Given the description of an element on the screen output the (x, y) to click on. 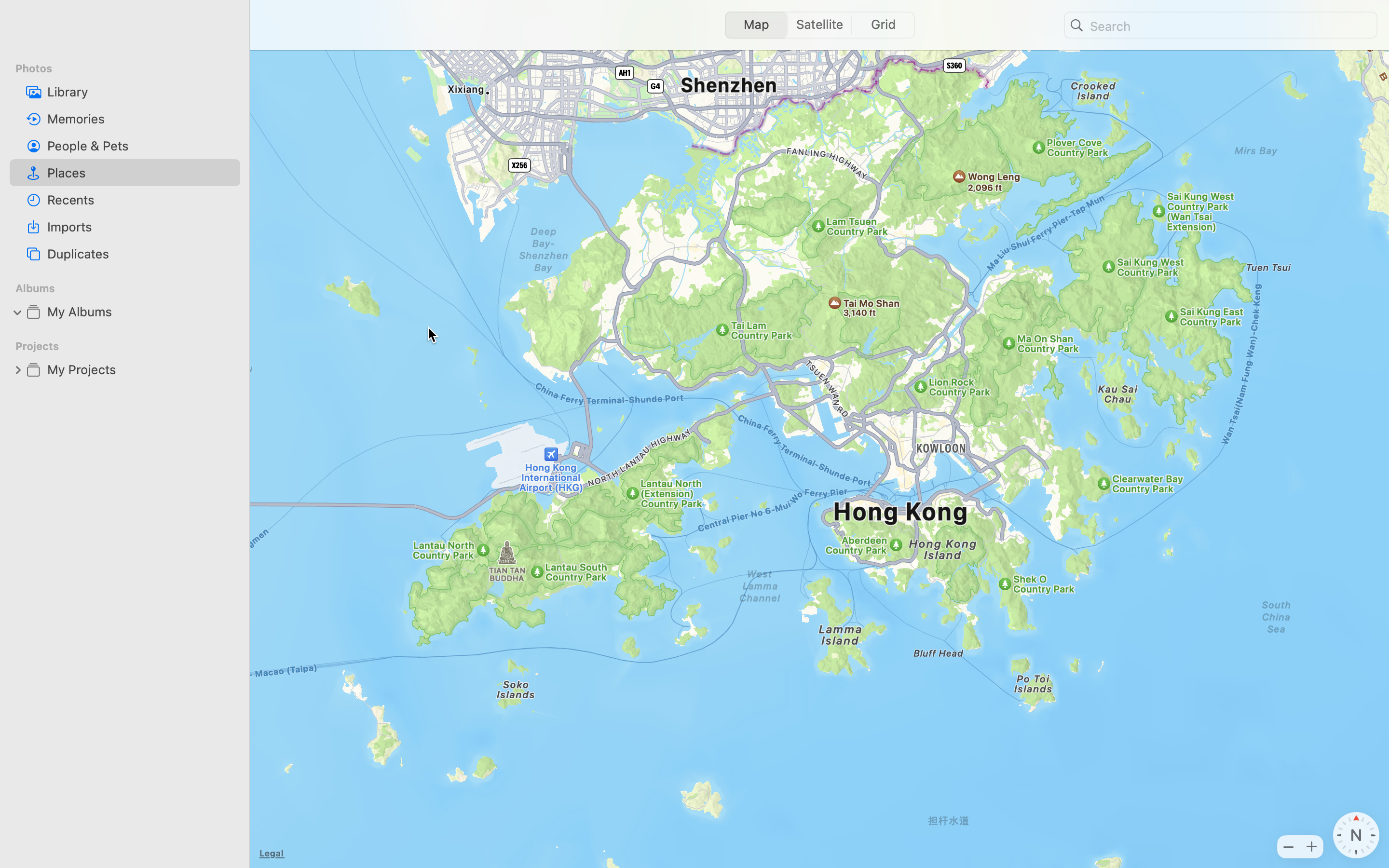
Places Element type: AXStaticText (139, 172)
My Albums Element type: AXStaticText (139, 311)
Photos Element type: AXStaticText (130, 68)
1 Element type: AXDisclosureTriangle (17, 311)
0 Element type: AXDisclosureTriangle (17, 368)
